Given the description of an element on the screen output the (x, y) to click on. 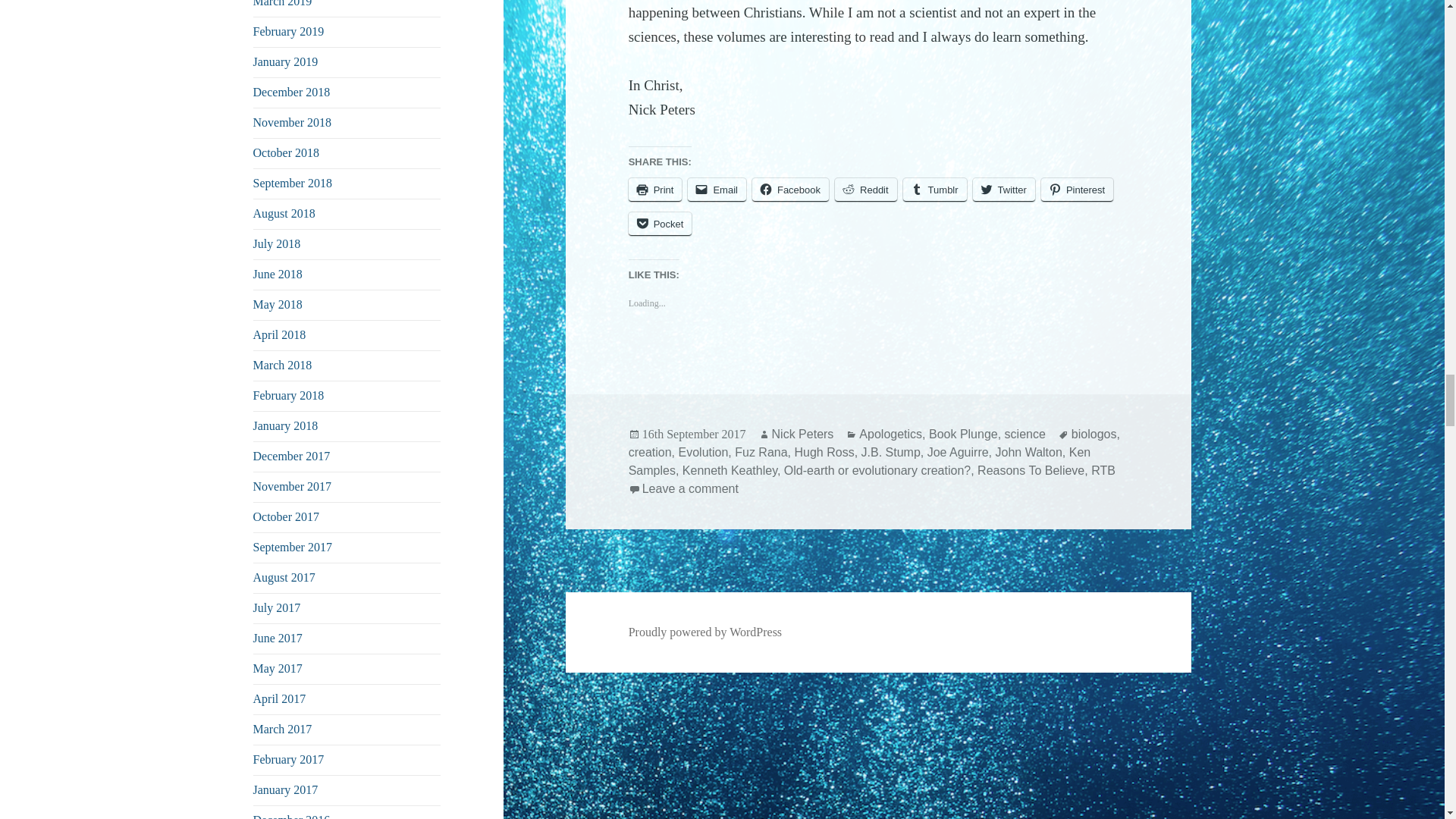
Click to share on Pinterest (1077, 189)
Click to email a link to a friend (716, 189)
Click to print (655, 189)
Click to share on Twitter (1003, 189)
Click to share on Pocket (660, 223)
Click to share on Facebook (790, 189)
Click to share on Tumblr (934, 189)
Click to share on Reddit (865, 189)
